Given the description of an element on the screen output the (x, y) to click on. 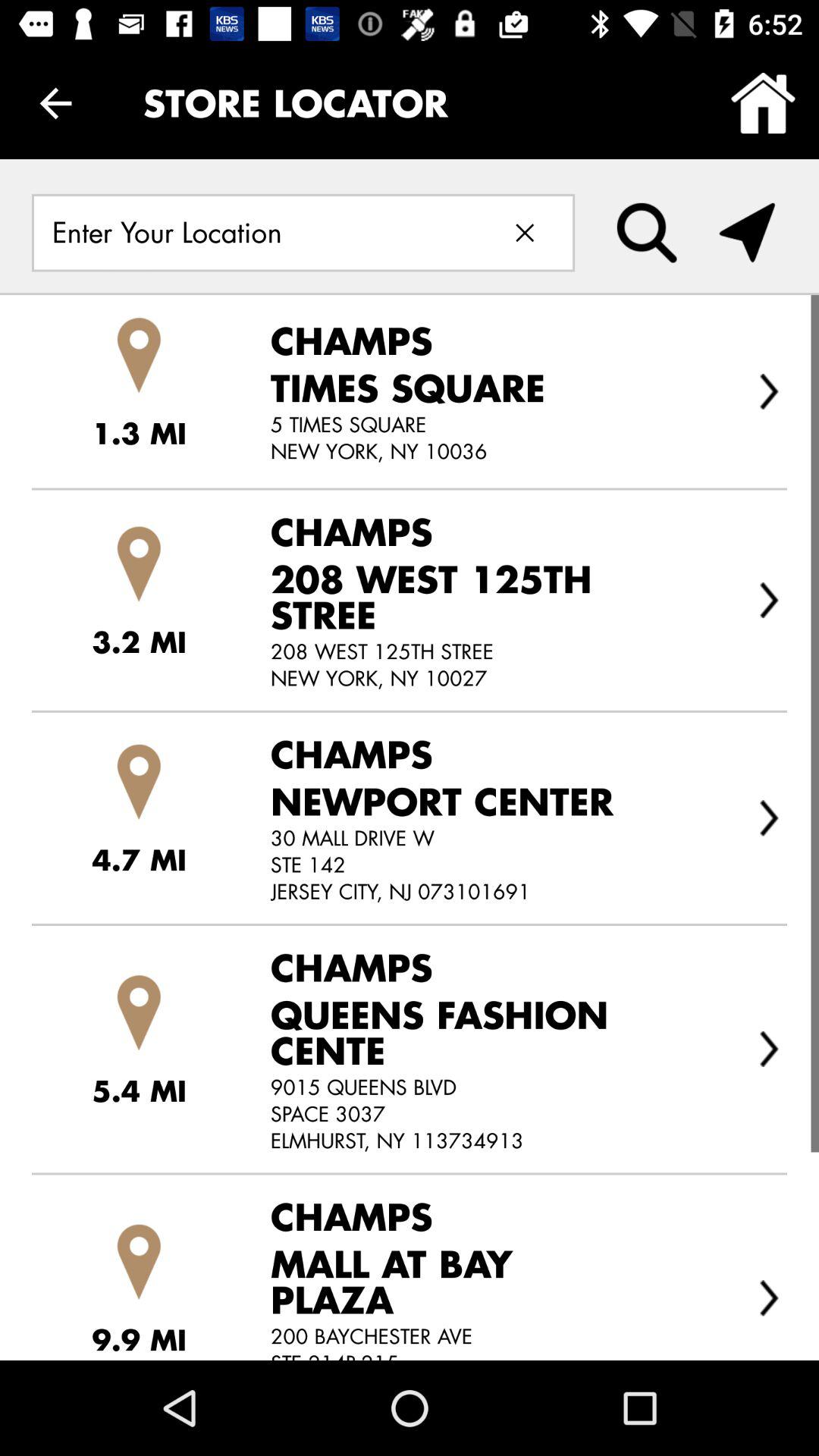
delete this text (524, 232)
